Given the description of an element on the screen output the (x, y) to click on. 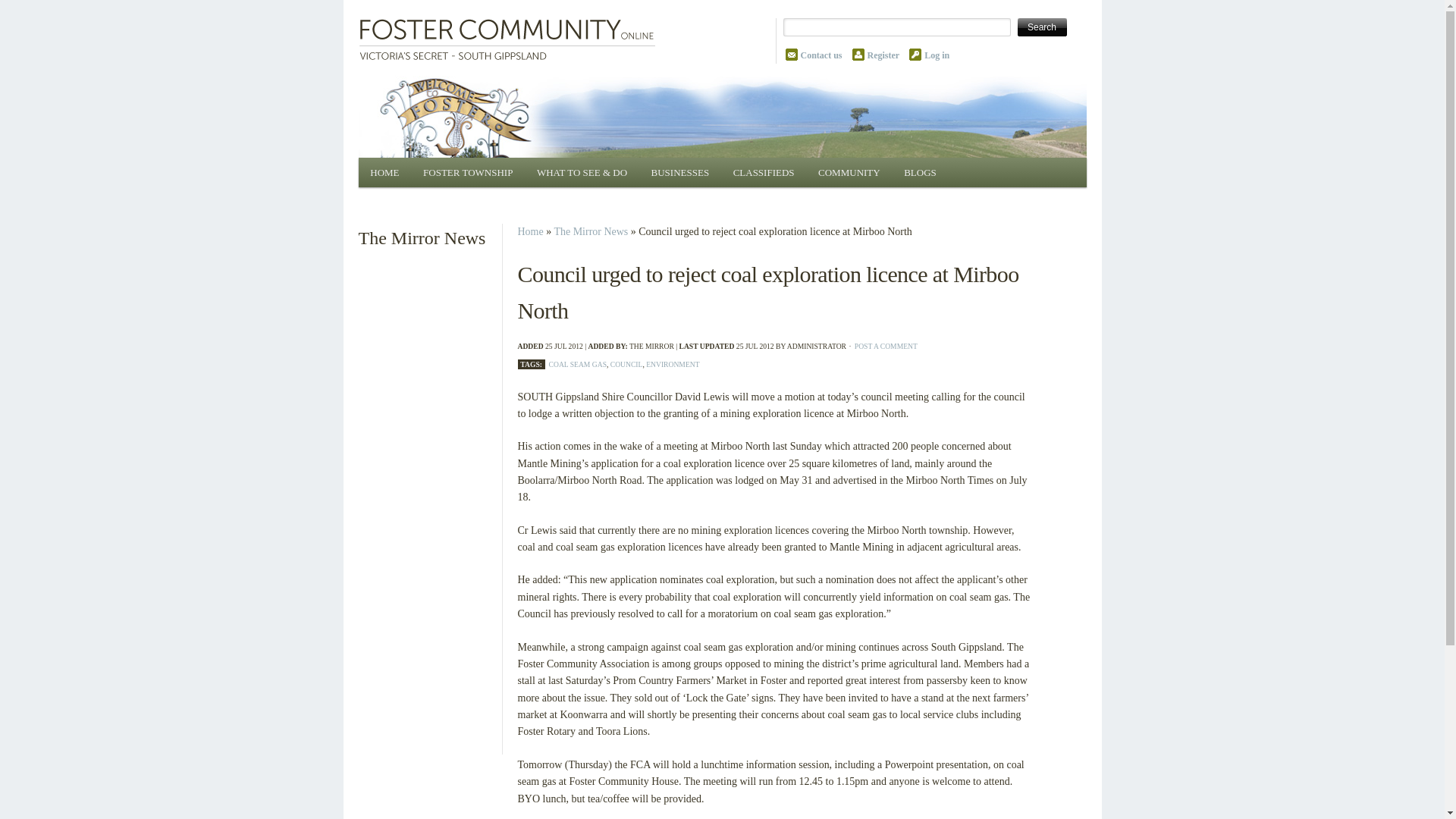
Register (883, 54)
Log in (936, 54)
Search (1042, 27)
FOSTER TOWNSHIP (467, 172)
Contact us (821, 54)
BUSINESSES (679, 172)
CLASSIFIEDS (763, 172)
HOME (384, 172)
COMMUNITY (848, 172)
Search (1042, 27)
register (883, 54)
Contact us (821, 54)
